Given the description of an element on the screen output the (x, y) to click on. 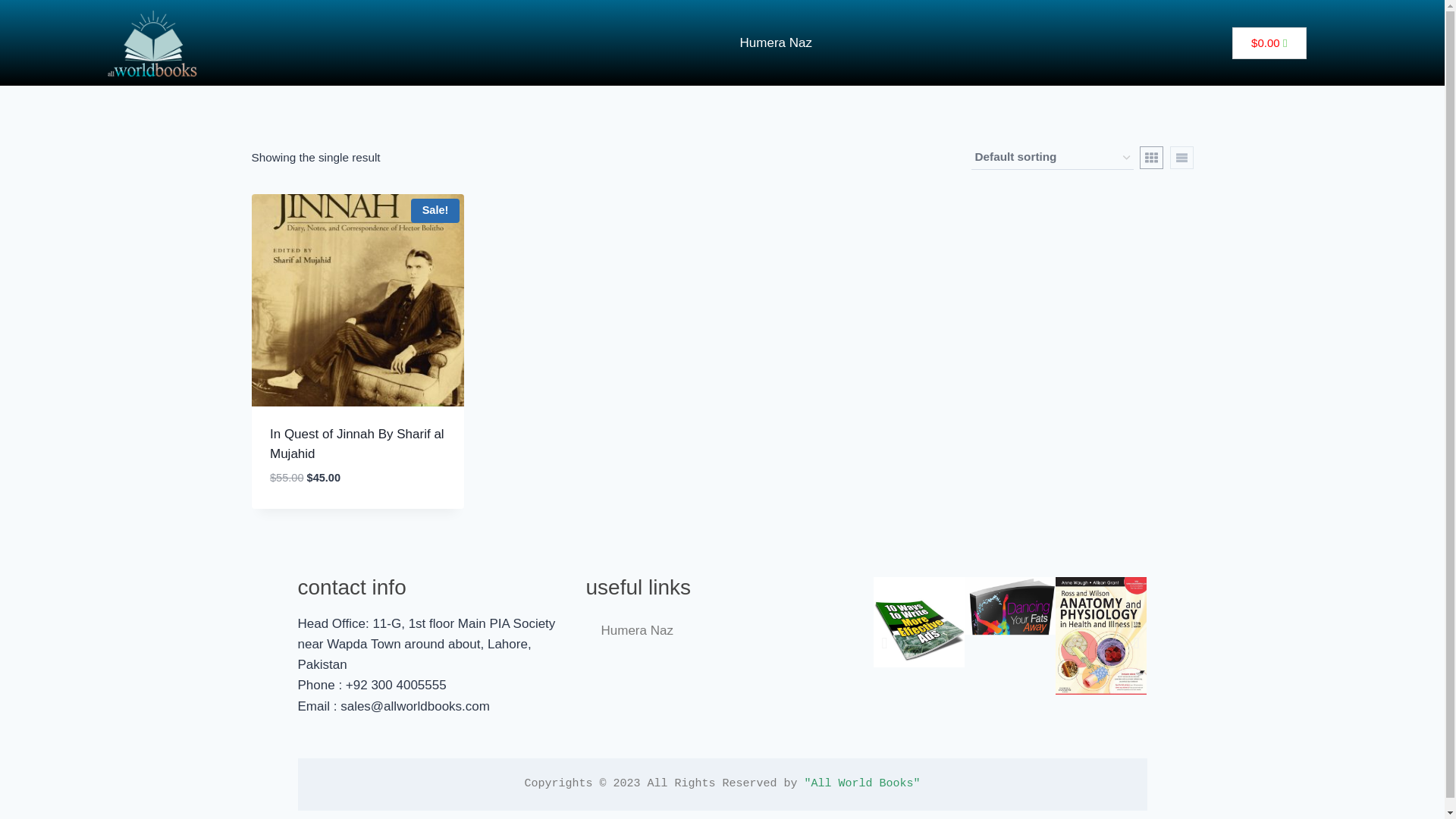
Grid View (1151, 157)
List View (1180, 157)
Sale! (357, 300)
Humera Naz (776, 42)
Humera Naz (722, 630)
In Quest of Jinnah By Sharif al Mujahid (356, 443)
